Given the description of an element on the screen output the (x, y) to click on. 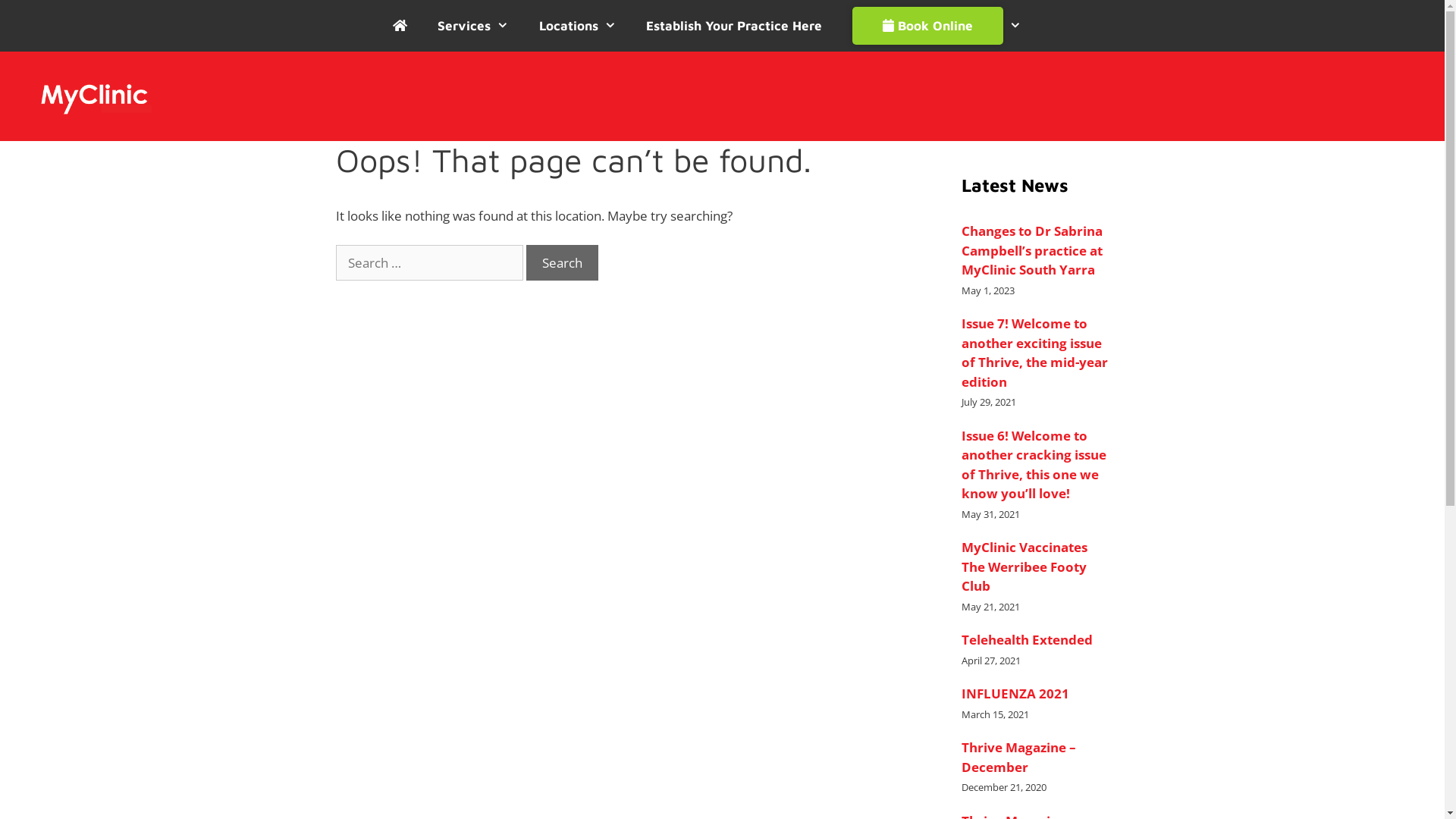
Search Element type: text (562, 262)
Book Online Element type: text (936, 25)
Search Element type: text (36, 18)
Telehealth Extended Element type: text (1035, 639)
Establish Your Practice Here Element type: text (733, 25)
Search for: Element type: hover (428, 262)
INFLUENZA 2021 Element type: text (1035, 693)
Locations Element type: text (577, 25)
MyClinic Vaccinates The Werribee Footy Club Element type: text (1035, 566)
Services Element type: text (473, 25)
